Given the description of an element on the screen output the (x, y) to click on. 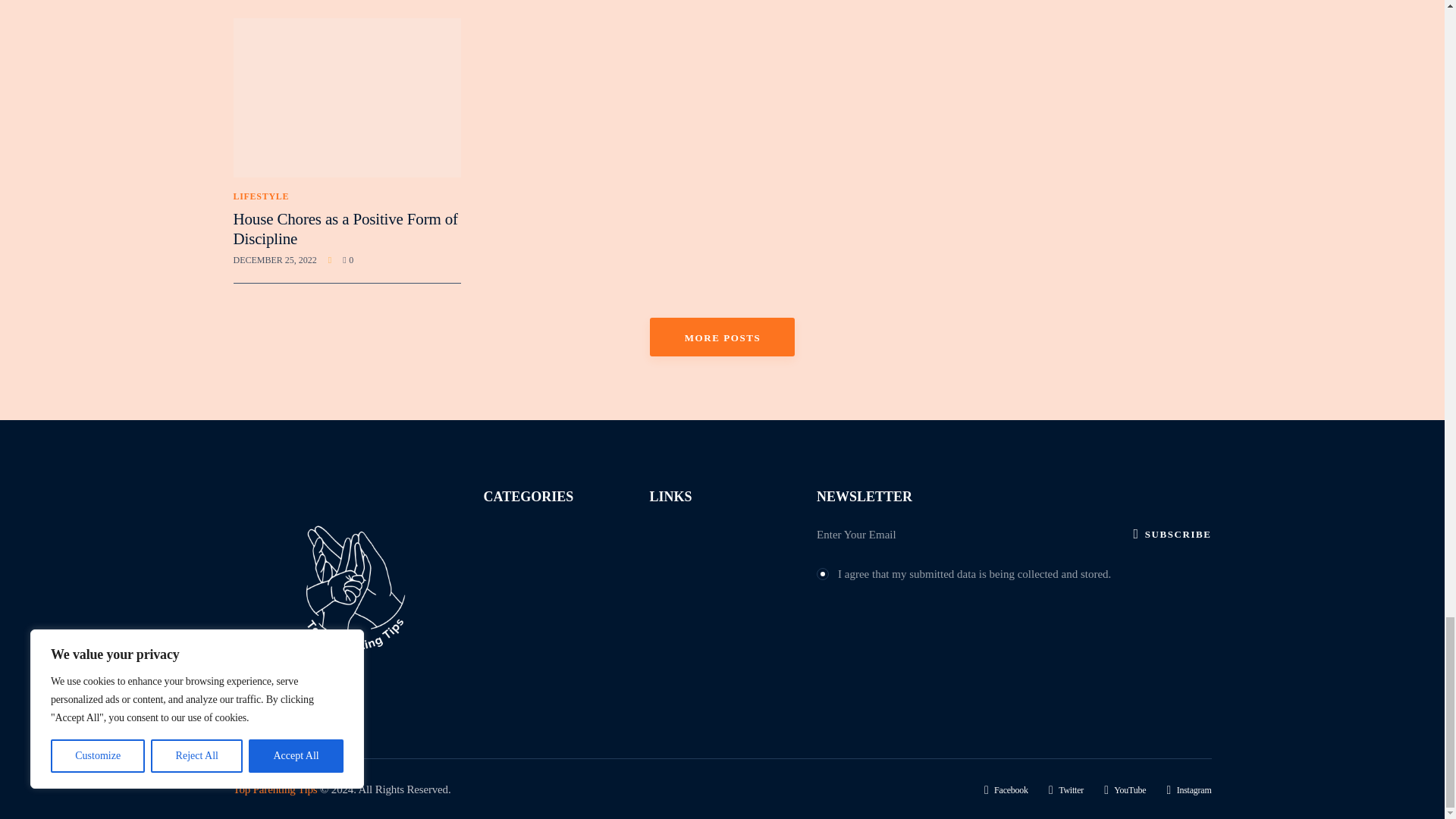
1 (821, 572)
